Given the description of an element on the screen output the (x, y) to click on. 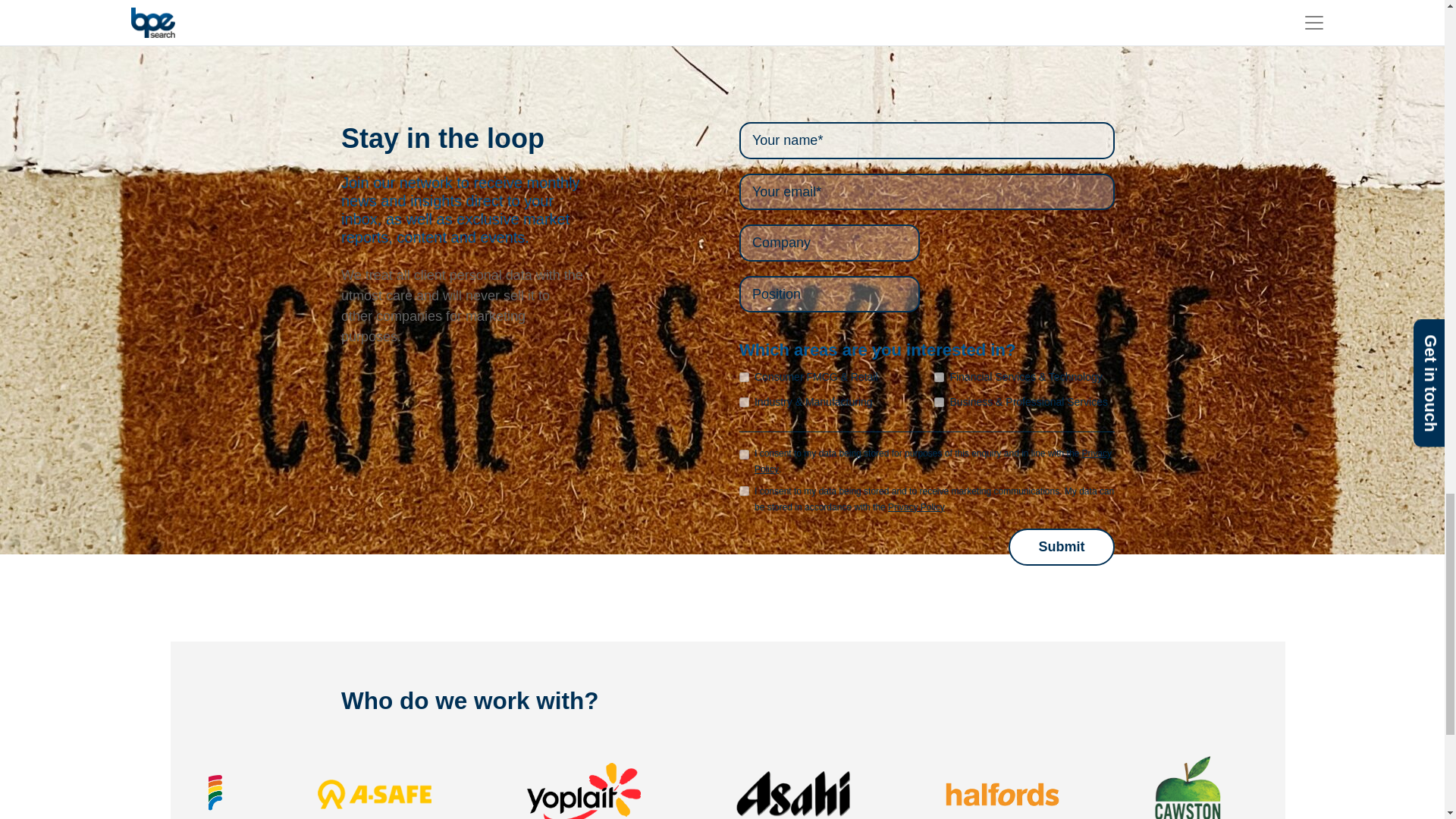
yes (744, 491)
Privacy Policy (916, 507)
1 (744, 454)
Privacy Policy (933, 460)
Submit (1062, 546)
Submit (1062, 546)
